Given the description of an element on the screen output the (x, y) to click on. 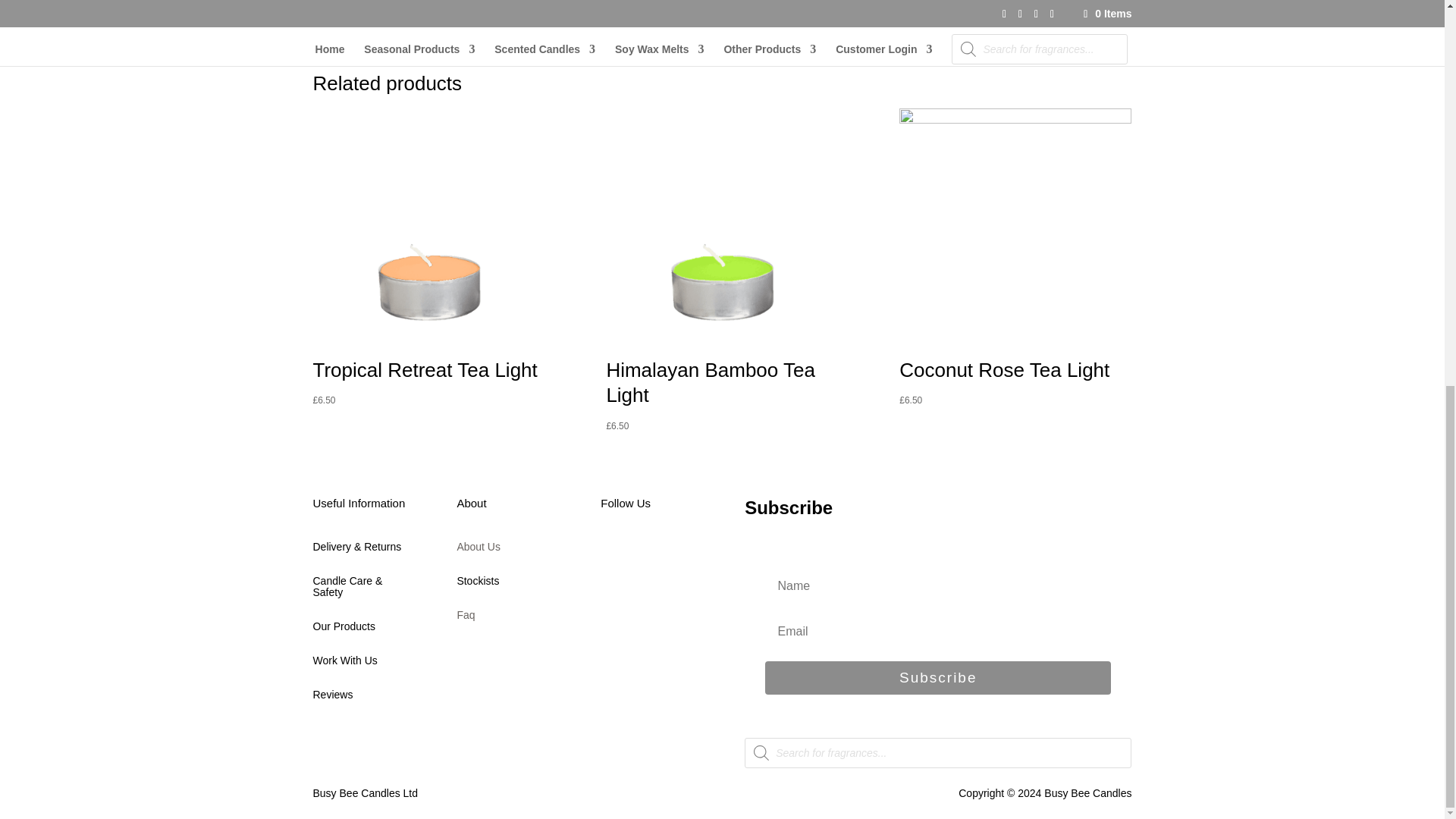
Follow on Facebook (611, 553)
Follow on Instagram (673, 553)
Follow on X (642, 553)
